Given the description of an element on the screen output the (x, y) to click on. 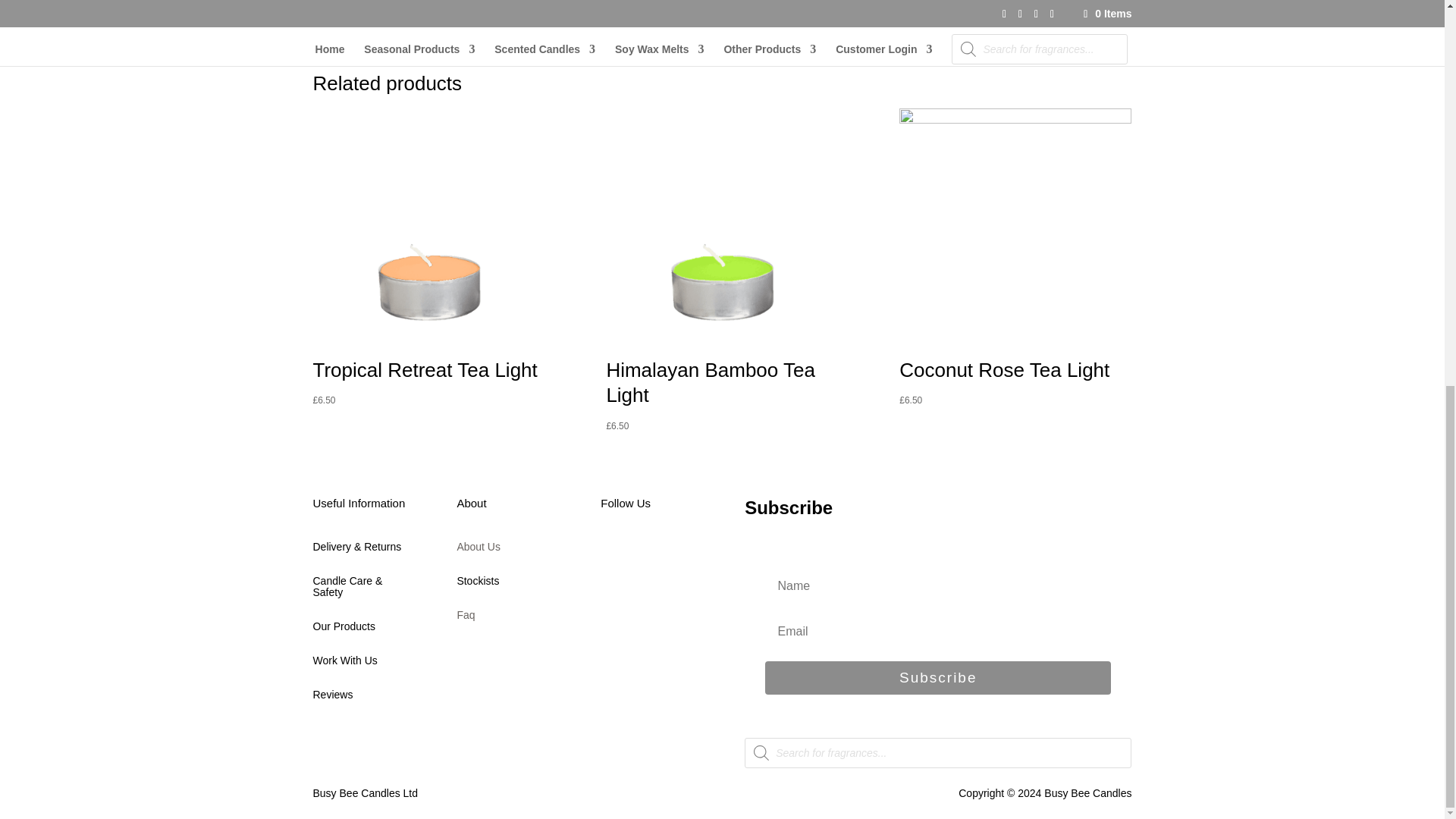
Follow on Facebook (611, 553)
Follow on Instagram (673, 553)
Follow on X (642, 553)
